Given the description of an element on the screen output the (x, y) to click on. 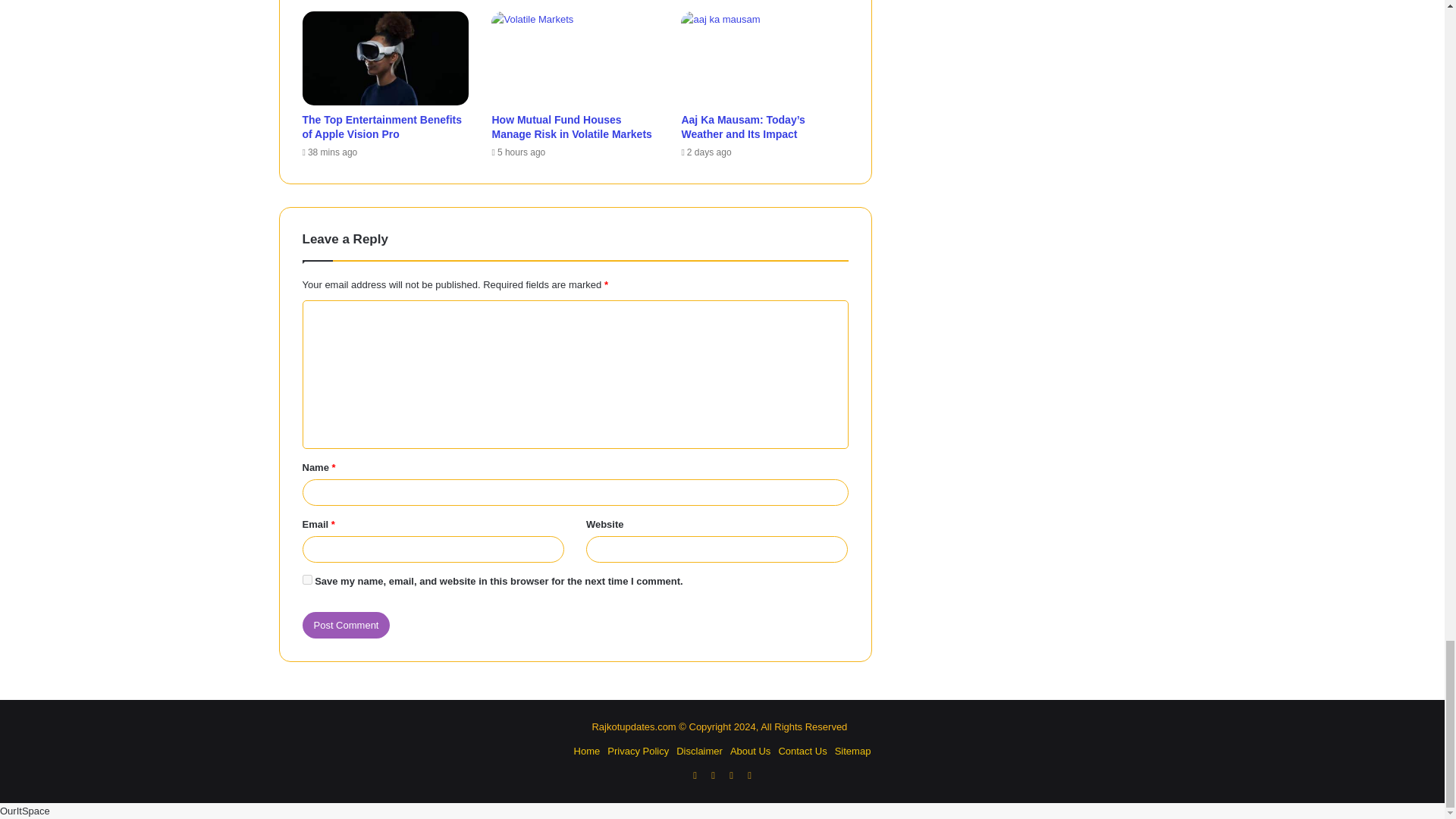
Post Comment (345, 624)
yes (306, 579)
